Given the description of an element on the screen output the (x, y) to click on. 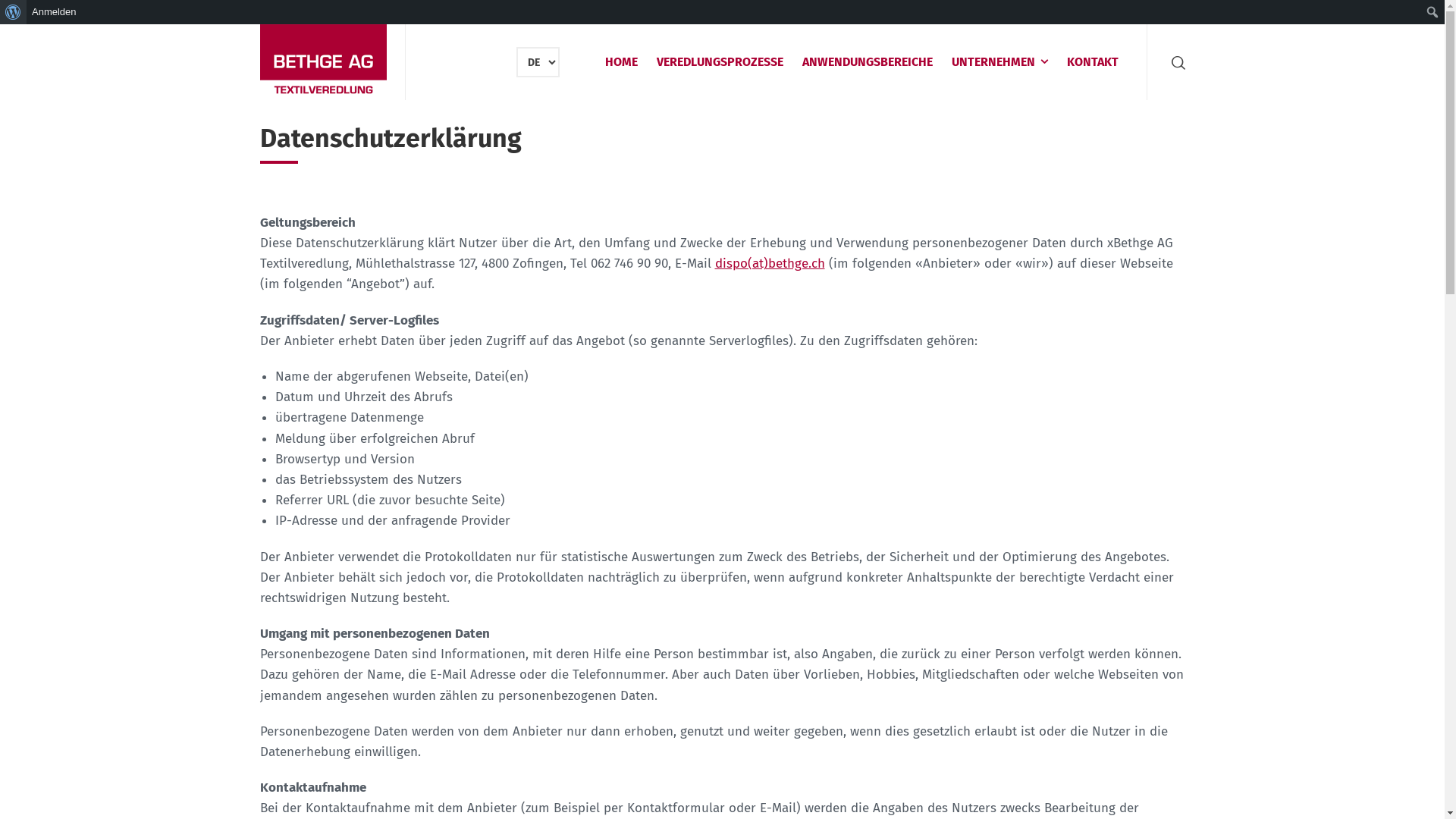
Suche Element type: hover (1174, 62)
Suche Element type: text (14, 12)
dispo(at)bethge.ch Element type: text (769, 263)
Anmelden Element type: text (54, 12)
UNTERNEHMEN Element type: text (999, 62)
KONTAKT Element type: text (1092, 62)
HOME Element type: text (621, 62)
BETHGE AG Textilveredlung Element type: hover (322, 62)
ANWENDUNGSBEREICHE Element type: text (867, 62)
VEREDLUNGSPROZESSE Element type: text (720, 62)
